Given the description of an element on the screen output the (x, y) to click on. 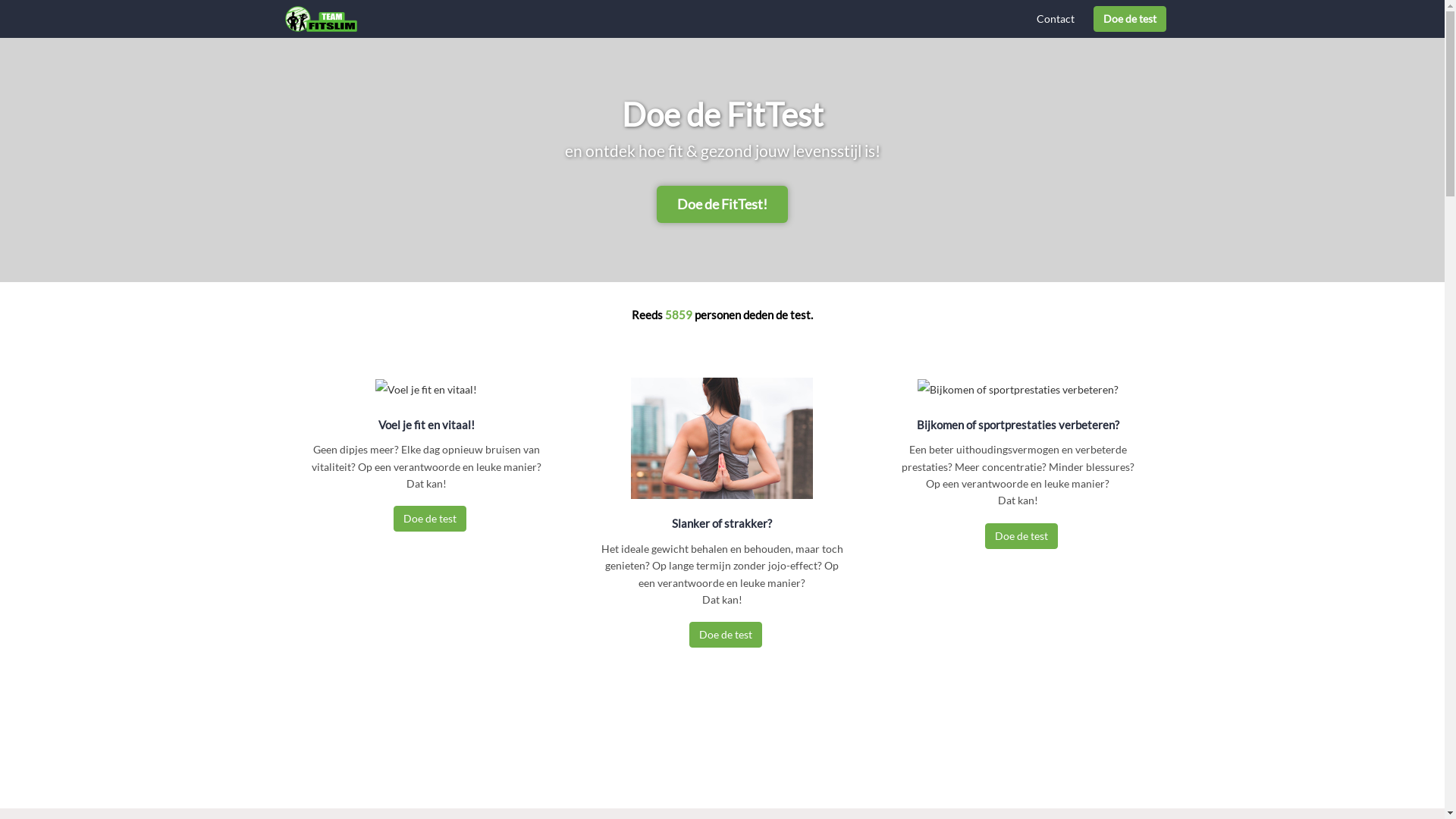
Doe de test Element type: text (1021, 536)
Doe de FitTest! Element type: text (721, 203)
Contact Element type: text (1055, 18)
Doe de test Element type: text (429, 518)
Doe de test Element type: text (1128, 18)
Doe de test Element type: text (725, 634)
